Given the description of an element on the screen output the (x, y) to click on. 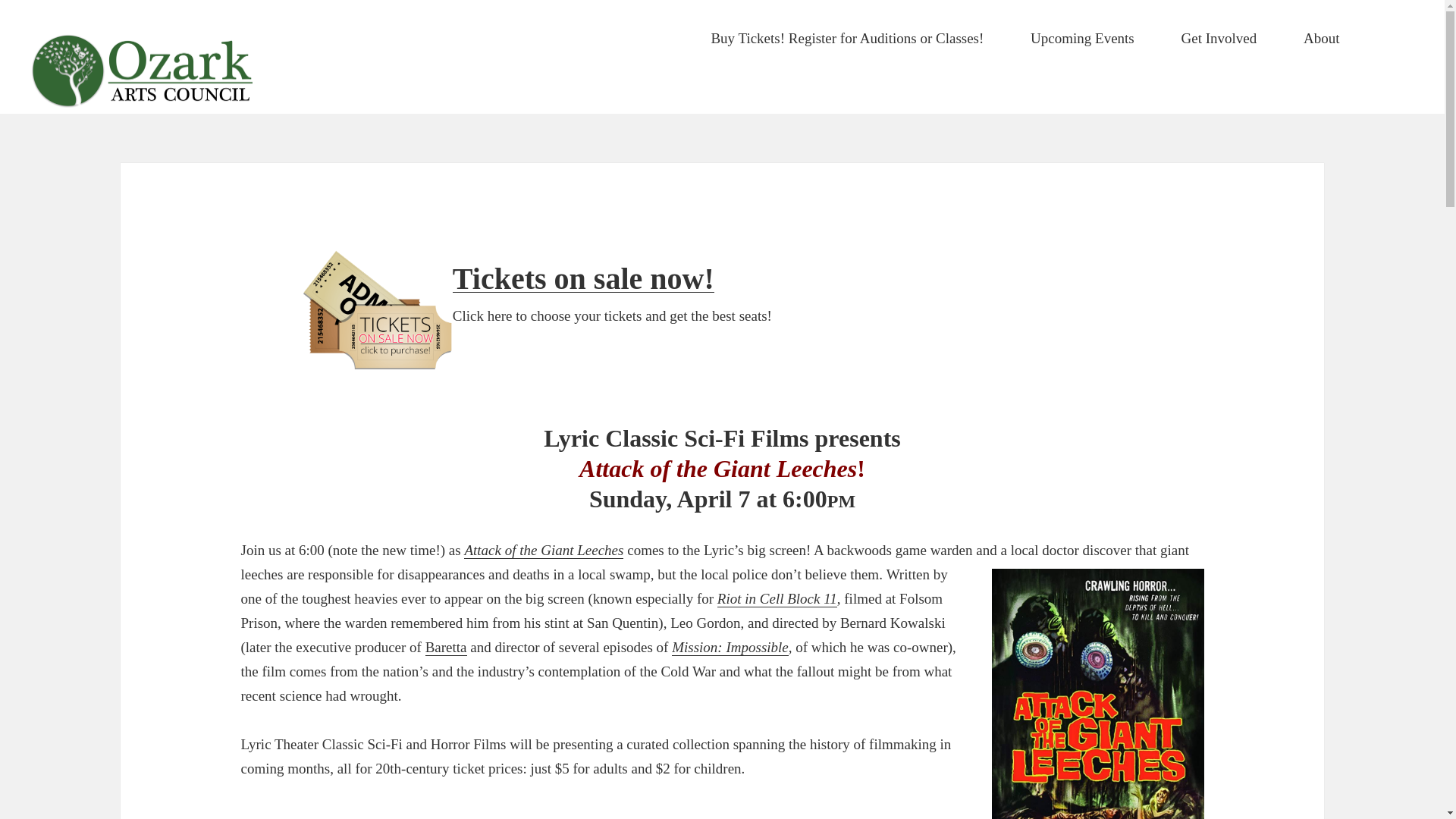
Buy Tickets! Register for Auditions or Classes! (847, 38)
Upcoming Events (1082, 38)
Mission: Impossible (730, 647)
Attack of the Giant Leeches (543, 550)
Riot in Cell Block 11 (777, 598)
Baretta (446, 647)
Get Involved (1218, 38)
